Given the description of an element on the screen output the (x, y) to click on. 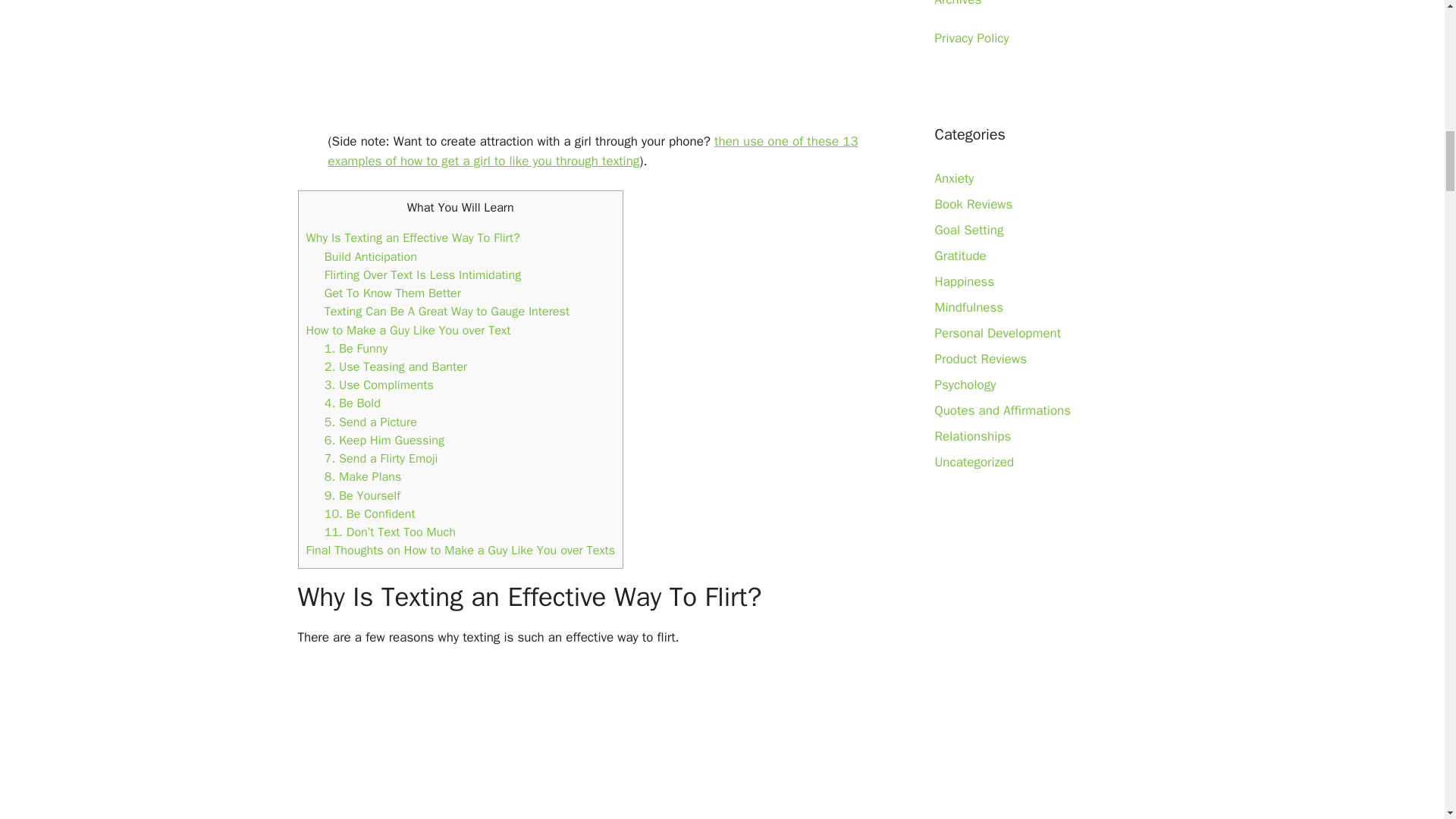
9. Be Yourself (362, 495)
5. Send a Picture (370, 421)
4. Be Bold (352, 402)
Why Is Texting an Effective Way To Flirt? (412, 237)
Final Thoughts on How to Make a Guy Like You over Texts (460, 549)
2. Use Teasing and Banter (395, 366)
8. Make Plans (362, 476)
How to Make a Guy Like You over Text (408, 330)
Get To Know Them Better (392, 293)
Build Anticipation (370, 256)
Texting Can Be A Great Way to Gauge Interest (446, 311)
